Given the description of an element on the screen output the (x, y) to click on. 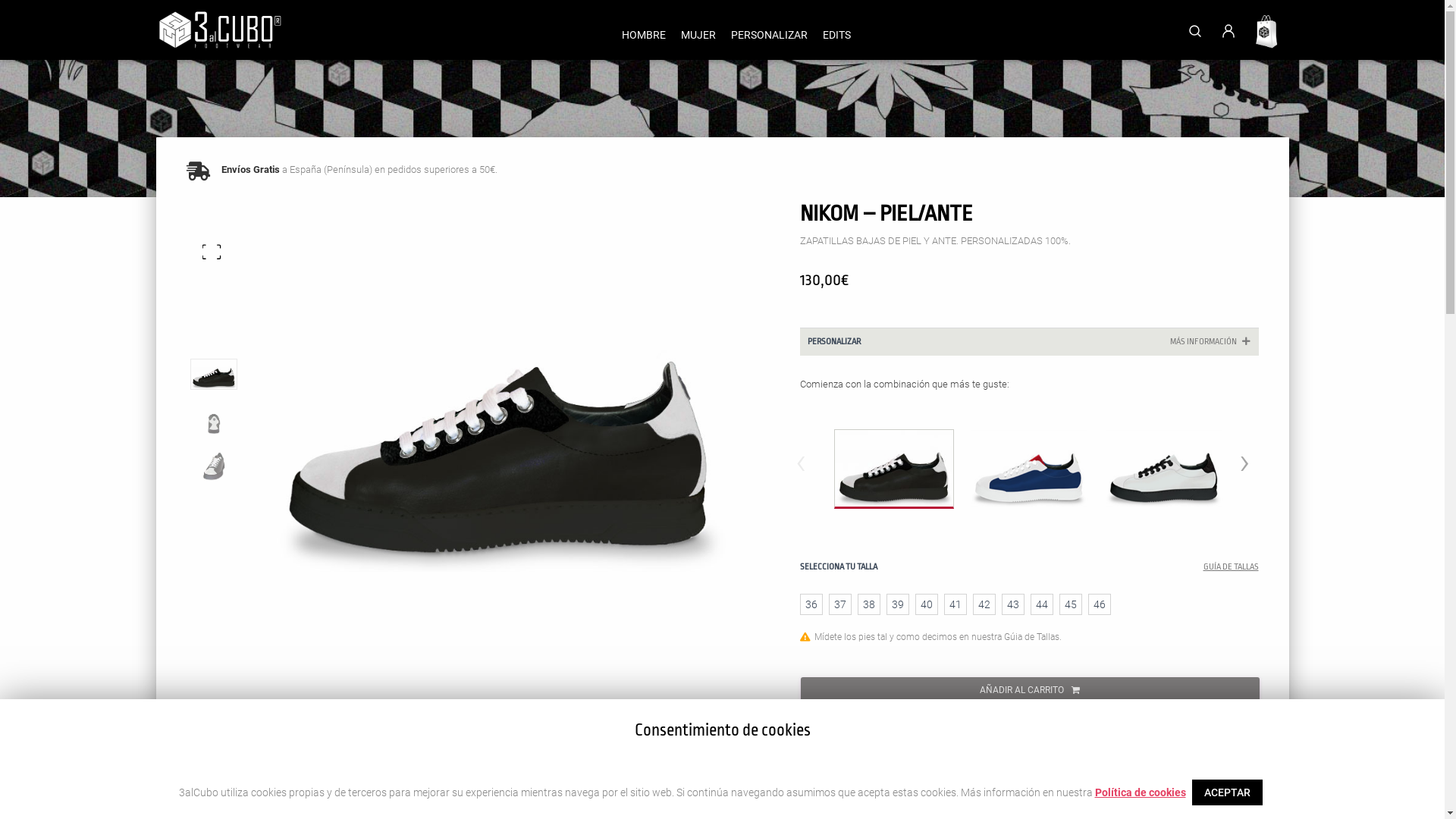
EDITS Element type: text (835, 34)
PERSONALIZAR Element type: text (769, 34)
3alCUBO Element type: hover (219, 29)
4132 Element type: text (229, 13)
nikom_pa-Smart-Sneaker-3alcubo-1 Element type: hover (498, 423)
Buscar Element type: text (1053, 114)
HOMBRE Element type: text (643, 34)
ACEPTAR Element type: text (1227, 792)
MUJER Element type: text (698, 34)
